Given the description of an element on the screen output the (x, y) to click on. 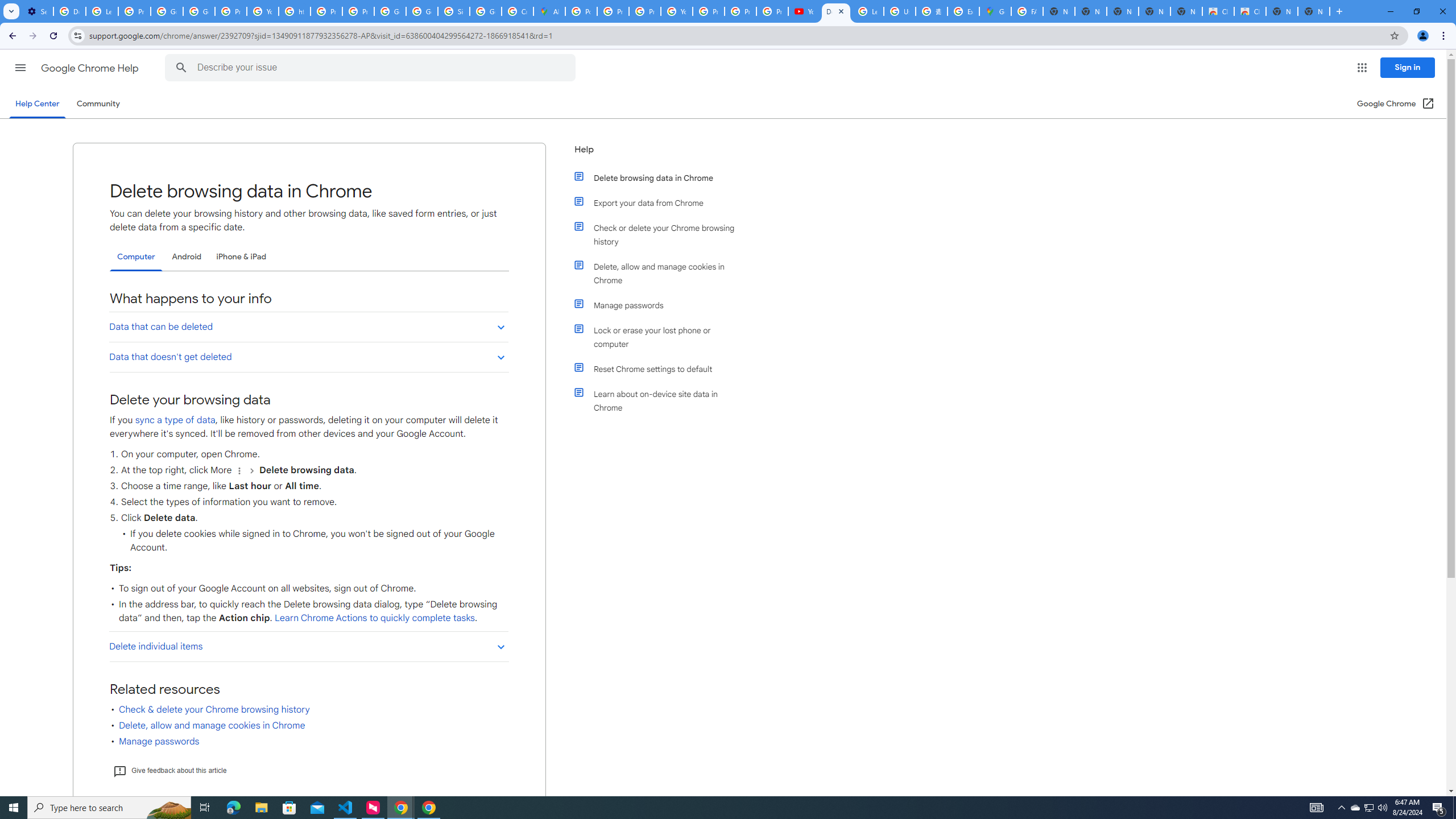
Check & delete your Chrome browsing history (214, 709)
Classic Blue - Chrome Web Store (1217, 11)
Privacy Help Center - Policies Help (613, 11)
Community (97, 103)
Google Chrome (Open in a new window) (1395, 103)
Privacy Help Center - Policies Help (326, 11)
Create your Google Account (517, 11)
Help Center (36, 103)
Delete photos & videos - Computer - Google Photos Help (69, 11)
YouTube (262, 11)
Search Help Center (181, 67)
